Given the description of an element on the screen output the (x, y) to click on. 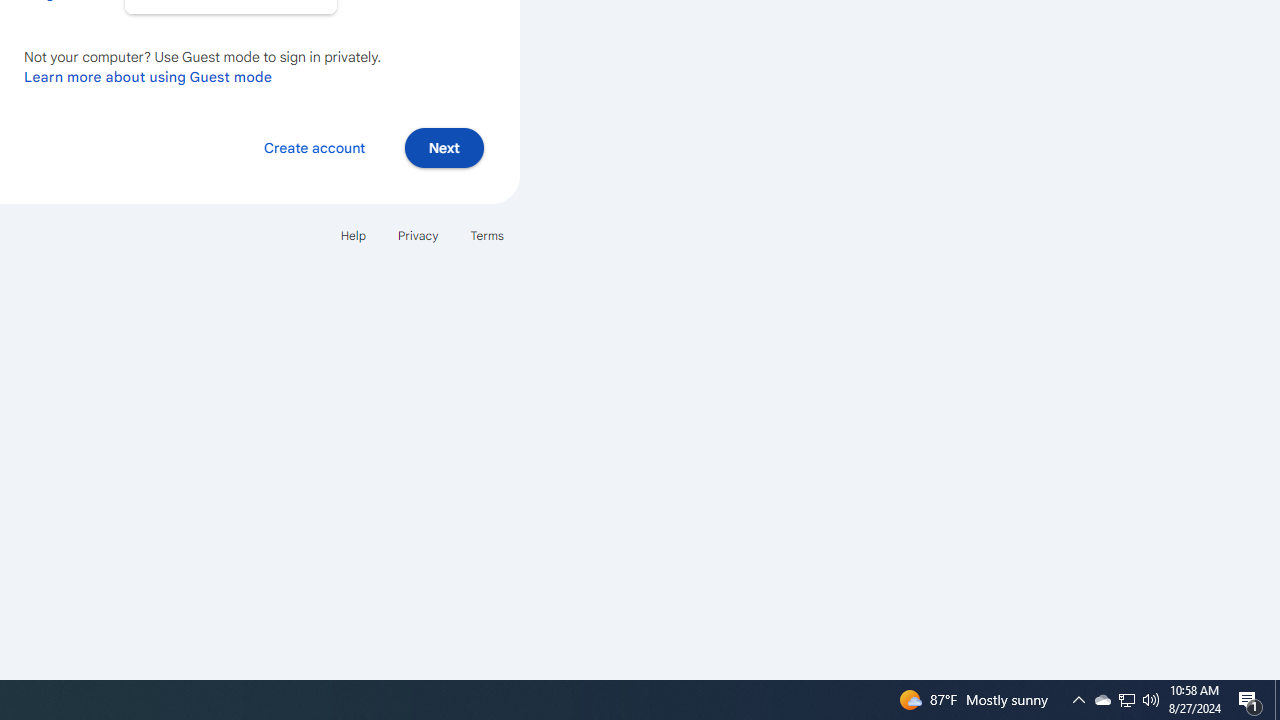
Learn more about using Guest mode (148, 76)
Create account (314, 146)
